Given the description of an element on the screen output the (x, y) to click on. 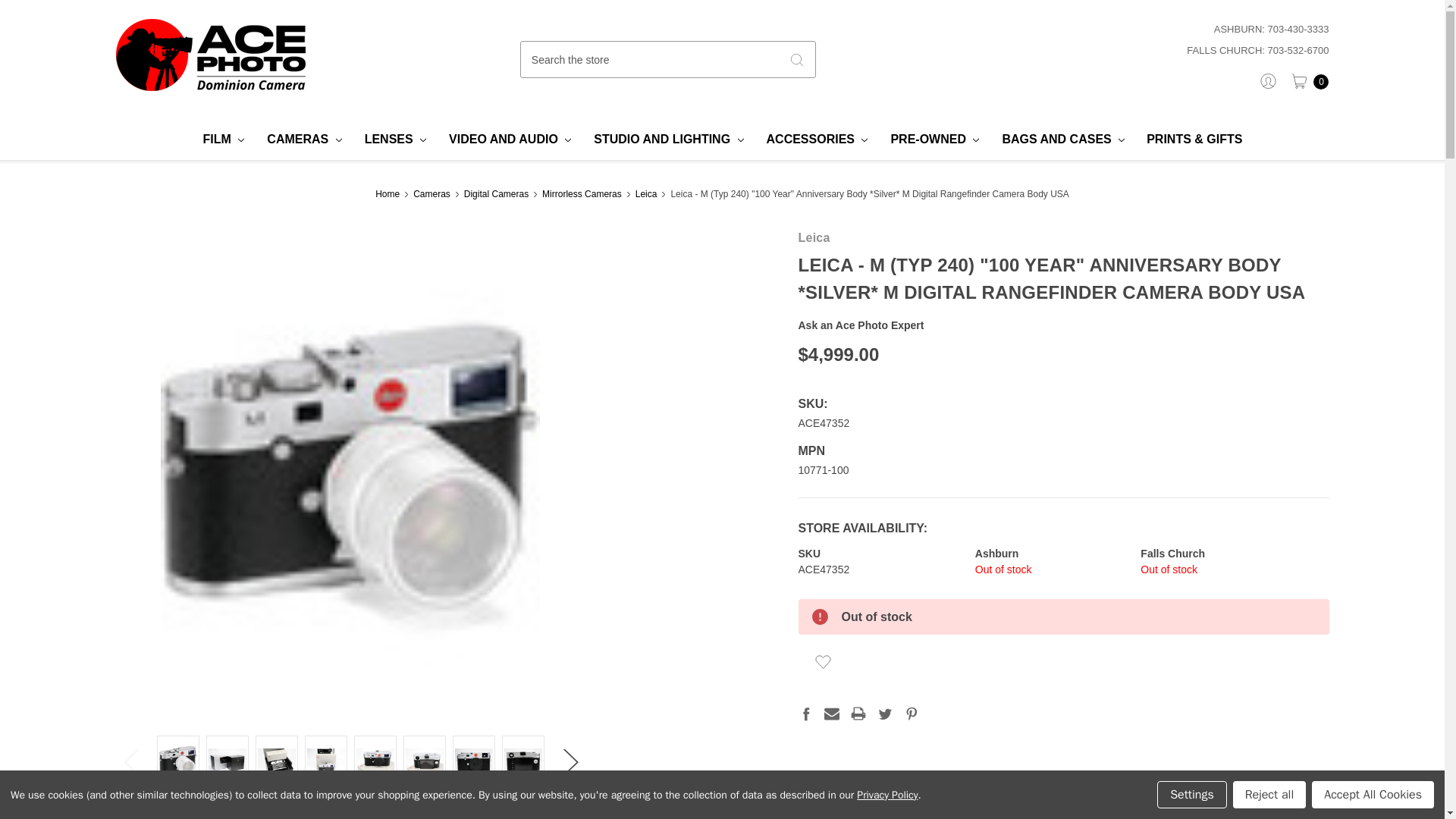
0 (1304, 80)
CAMERAS (304, 138)
Ace Photo (209, 54)
FALLS CHURCH: 703-532-6700 (1125, 50)
ASHBURN: 703-430-3333 (1125, 29)
FILM (224, 138)
